Given the description of an element on the screen output the (x, y) to click on. 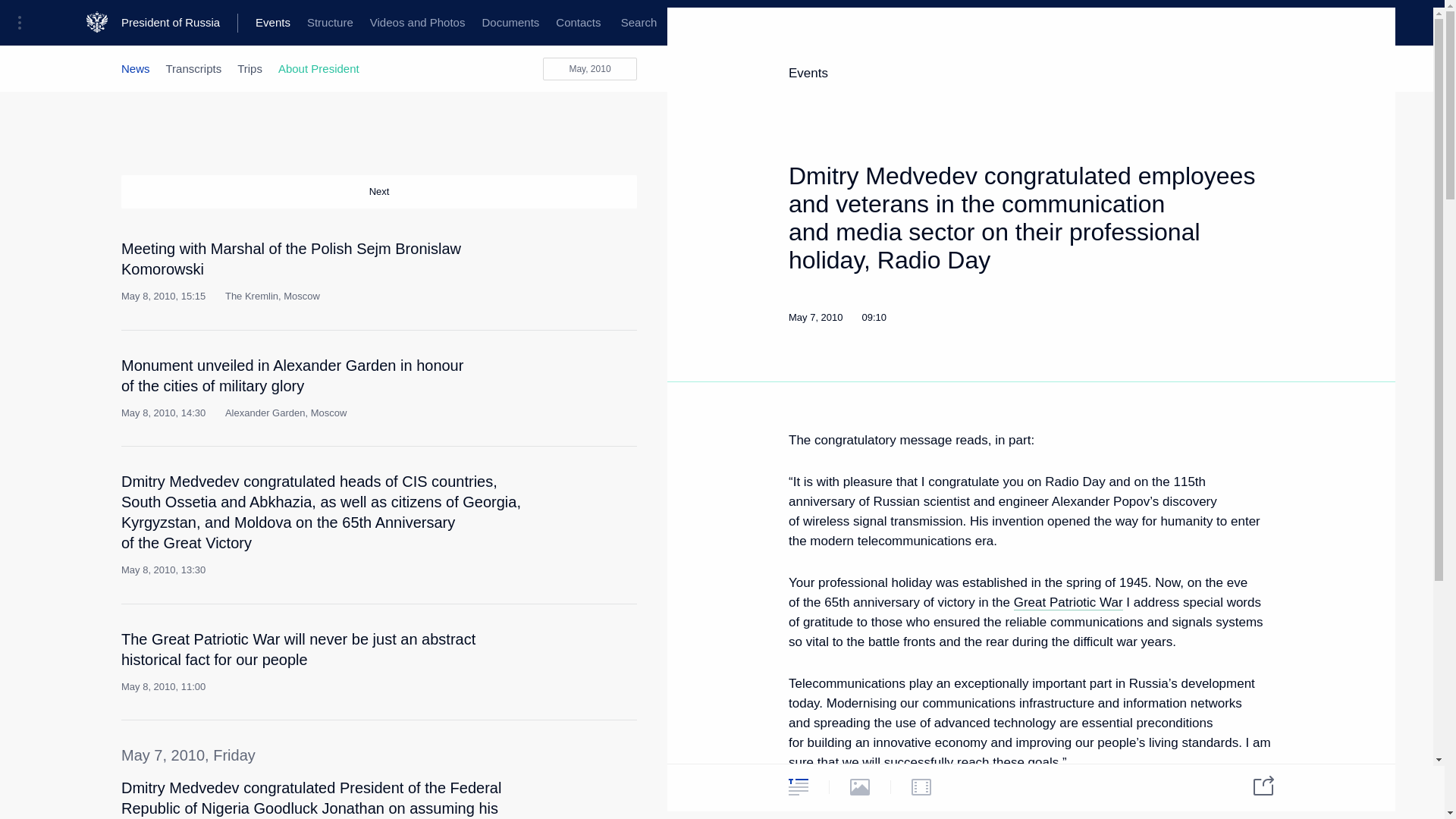
Events (272, 22)
Documents (510, 22)
Text of the article (549, 254)
Next (378, 191)
President of Russia (179, 22)
Security Council (470, 22)
President (144, 22)
Presidential Executive Office (257, 22)
Portal Menu (24, 22)
Videos and Photos (417, 22)
About President (318, 68)
